Given the description of an element on the screen output the (x, y) to click on. 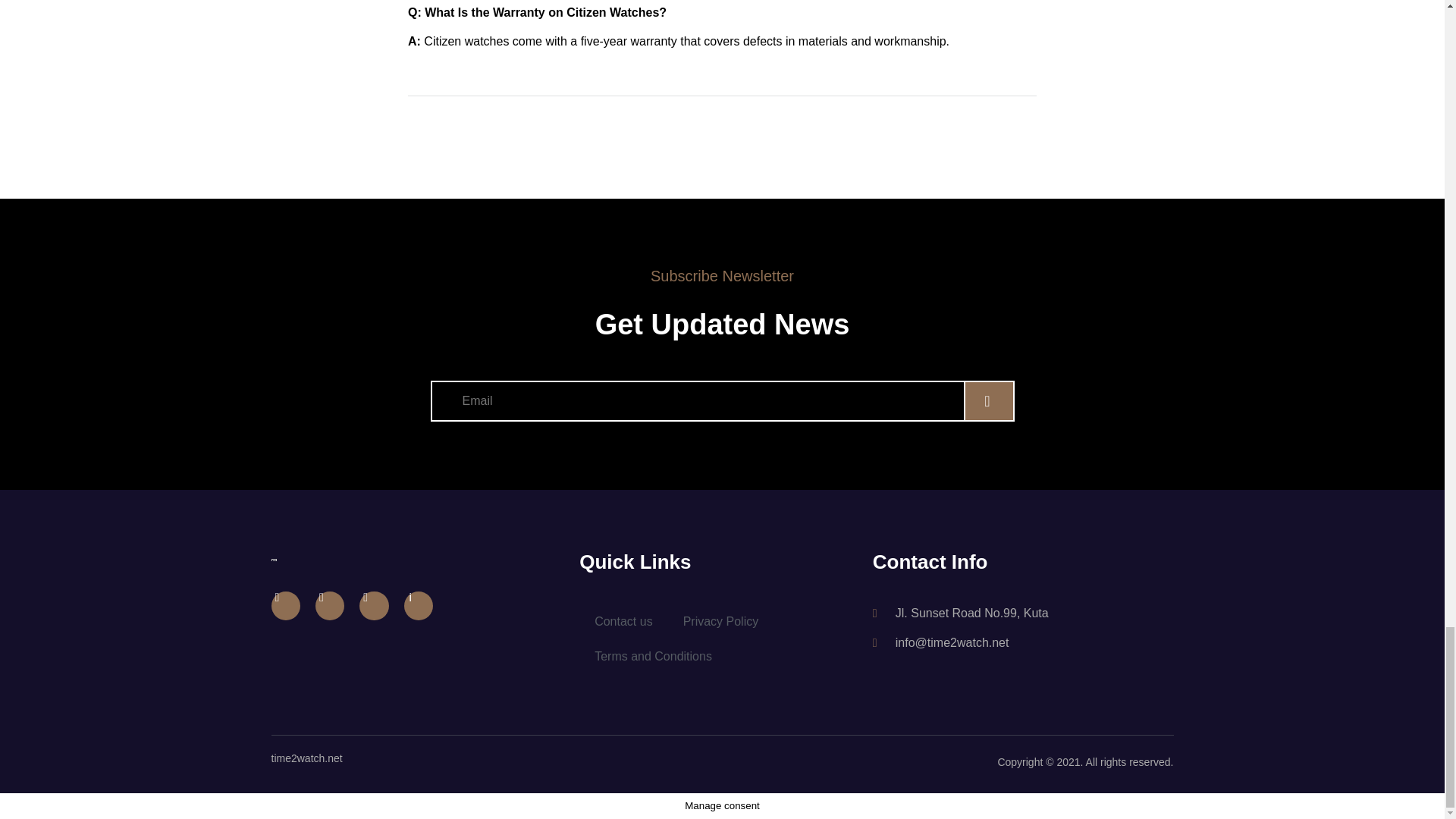
Privacy Policy (721, 621)
Contact us (622, 621)
Terms and Conditions (652, 656)
